Given the description of an element on the screen output the (x, y) to click on. 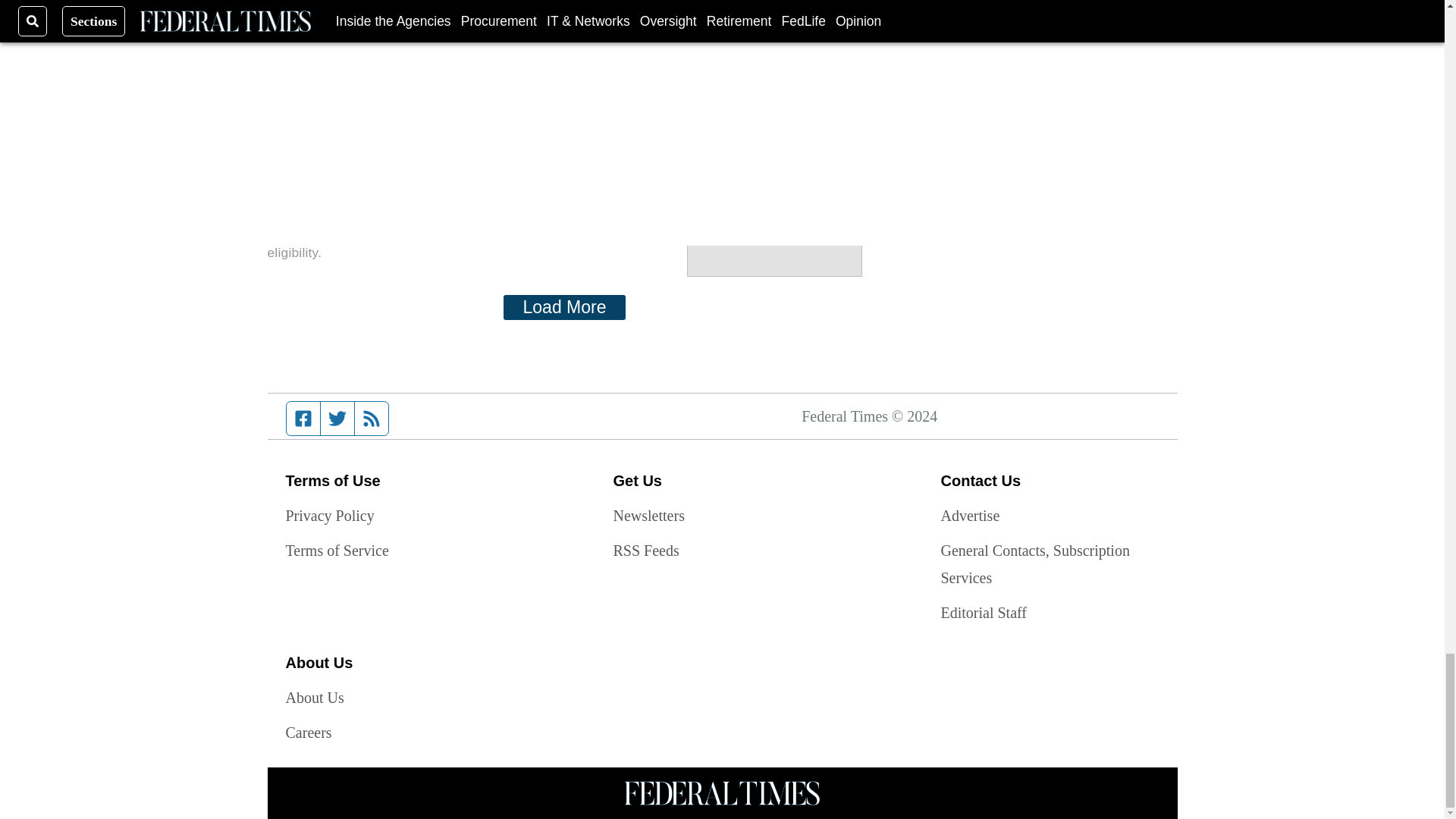
Facebook page (303, 418)
Twitter feed (336, 418)
RSS feed (371, 418)
